Given the description of an element on the screen output the (x, y) to click on. 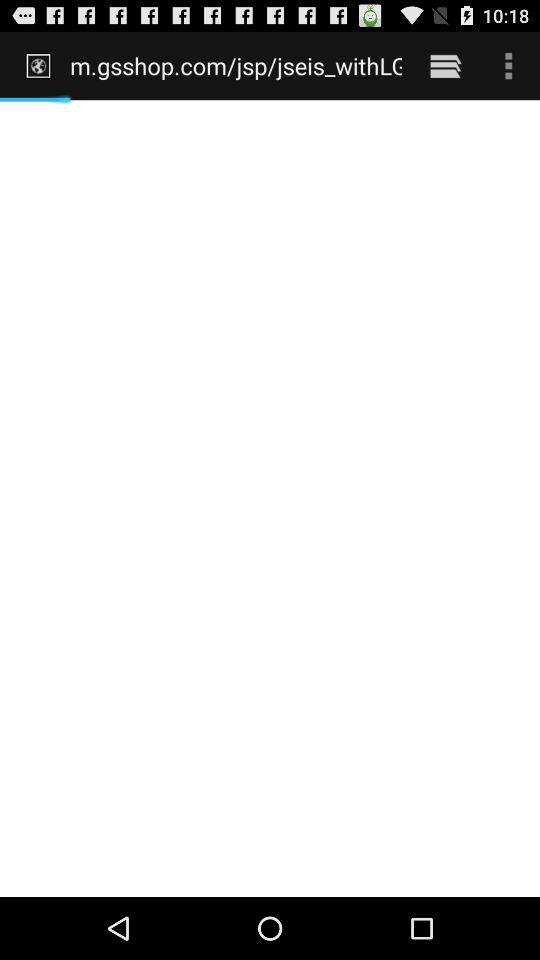
open item below the m gsshop com (270, 497)
